Given the description of an element on the screen output the (x, y) to click on. 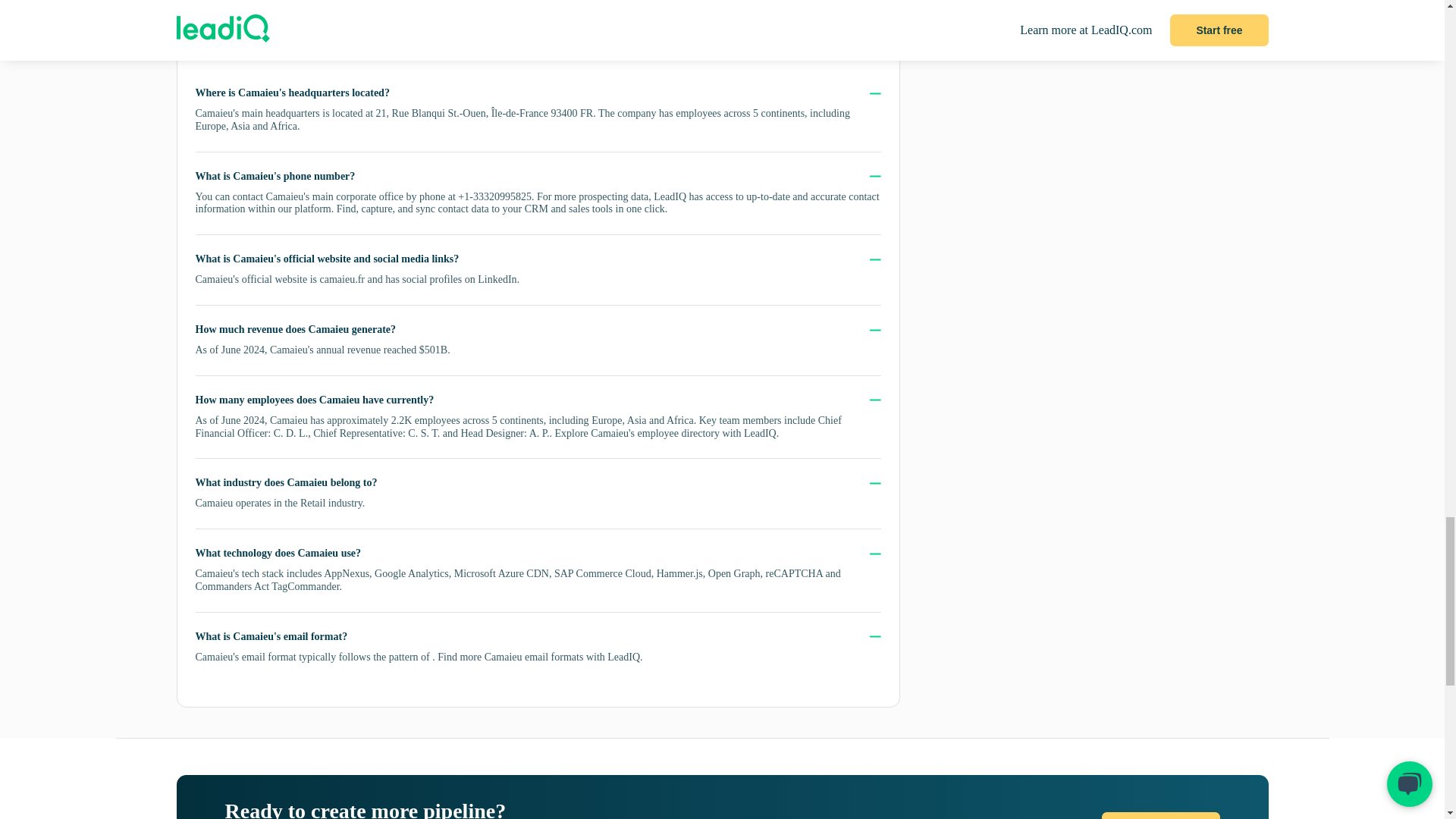
Camaieu's employee directory (655, 432)
LinkedIn (496, 279)
camaieu.fr (342, 279)
Find more Camaieu email formats (510, 656)
